Given the description of an element on the screen output the (x, y) to click on. 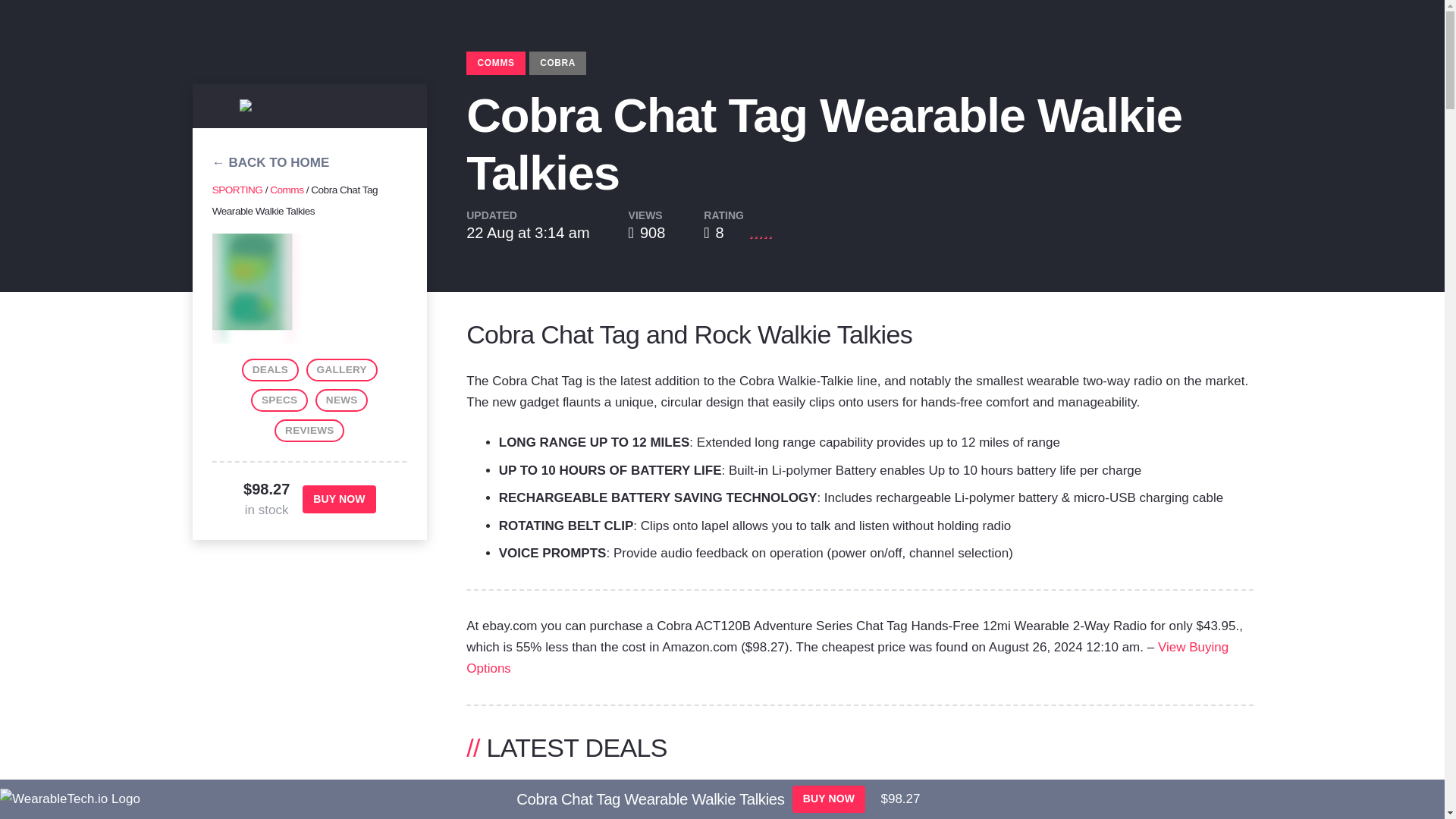
REVIEWS (309, 430)
View Buying Options (846, 657)
COMMS (495, 63)
GALLERY (341, 369)
Cobra Chat Tag Wearable Walkie Talkies 1 (309, 288)
Comms (285, 189)
Helpie FAQ (341, 400)
SPECS (278, 400)
SPORTING (237, 189)
COBRA (557, 63)
